Given the description of an element on the screen output the (x, y) to click on. 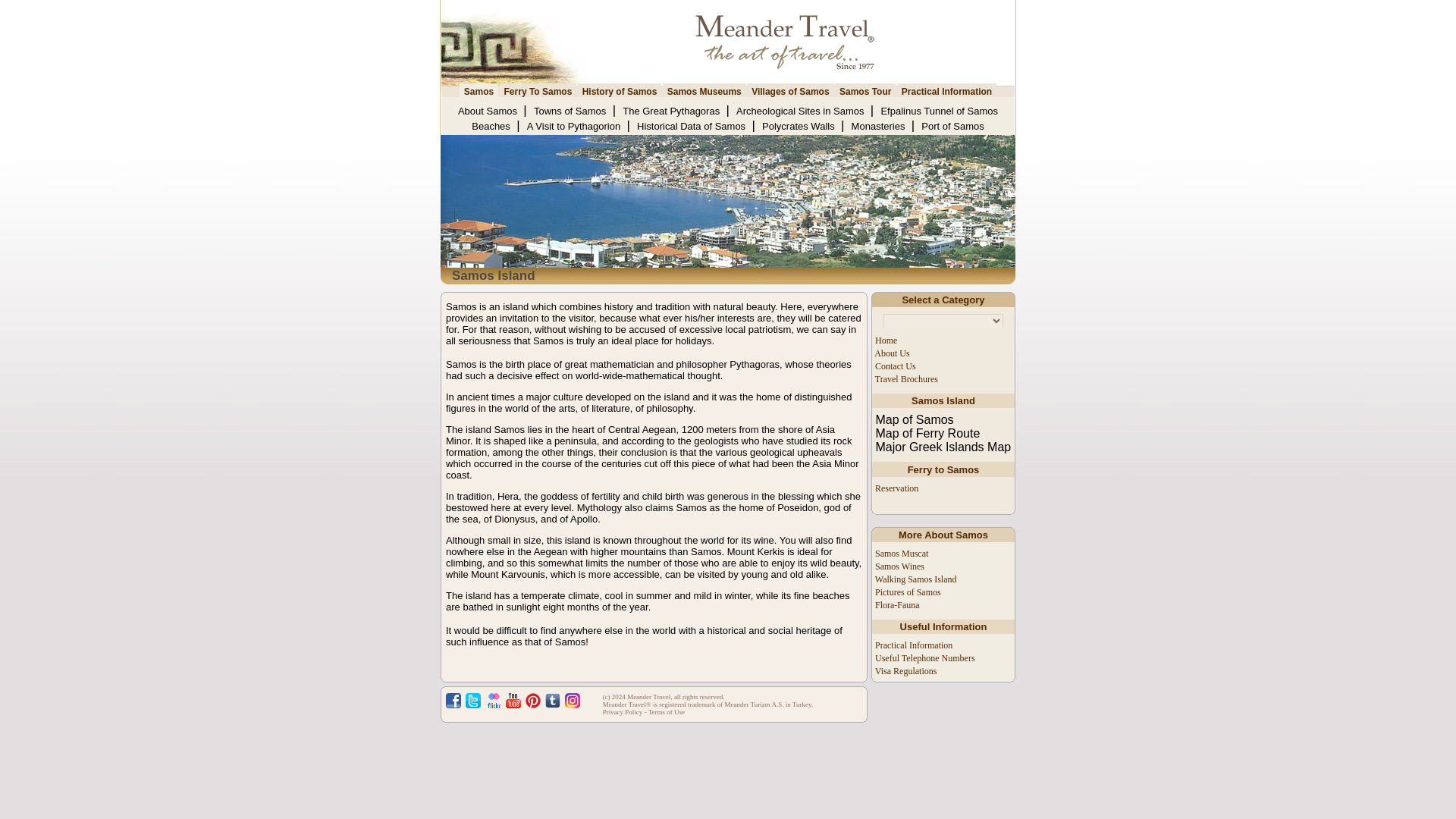
A Visit to Pythagorion (575, 125)
Practical Information (945, 90)
Historical Data of Samos (692, 125)
The Great Pythagoras (672, 111)
Port of Samos (952, 125)
Meander Travel - Kusadasi (800, 42)
Meander Travel - Kusadasi (514, 42)
Samos Tour (864, 90)
Villages of Samos (790, 90)
History of Samos (620, 90)
Archeological Sites in Samos (801, 111)
Samos Museums (703, 90)
Polycrates Walls (799, 125)
About Samos (488, 111)
Towns of Samos (571, 111)
